Given the description of an element on the screen output the (x, y) to click on. 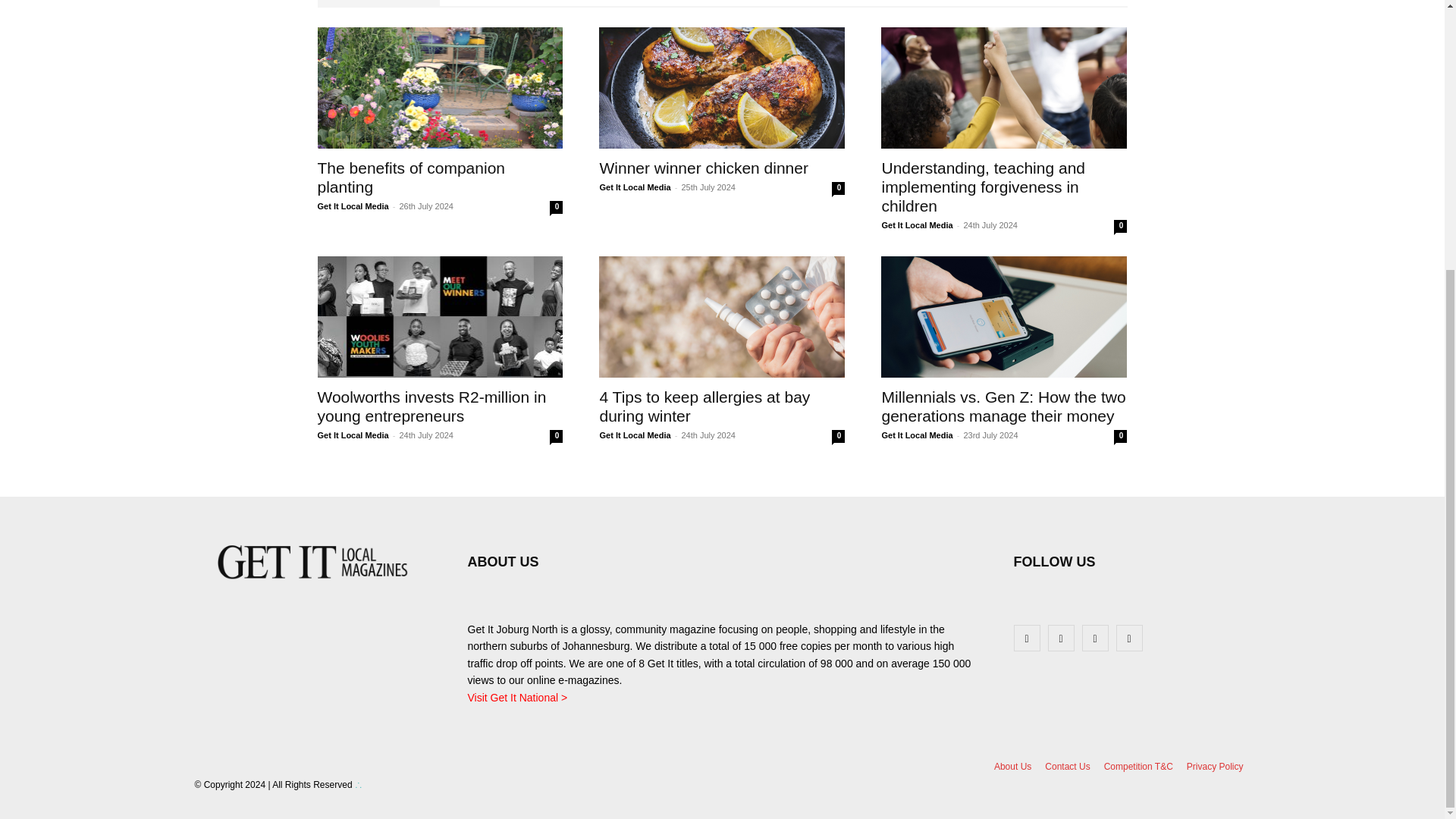
Winner winner chicken dinner (721, 87)
Winner winner chicken dinner (703, 167)
Woolworths invests R2-million in young entrepreneurs (439, 316)
4 Tips to keep allergies at bay during winter (721, 316)
The benefits of companion planting (411, 176)
Woolworths invests R2-million in young entrepreneurs (431, 406)
The benefits of companion planting (439, 87)
